Given the description of an element on the screen output the (x, y) to click on. 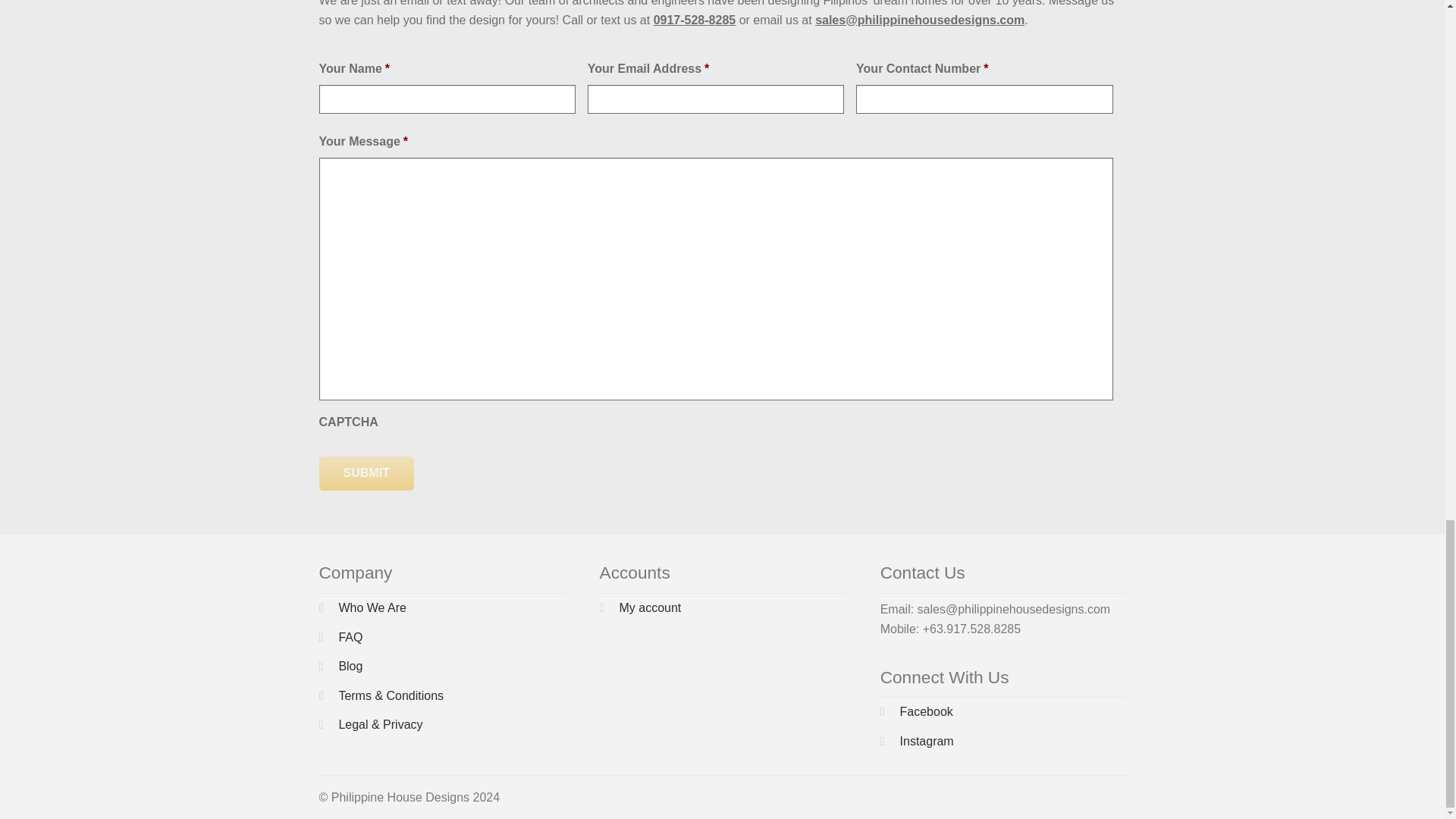
Submit (365, 473)
